Given the description of an element on the screen output the (x, y) to click on. 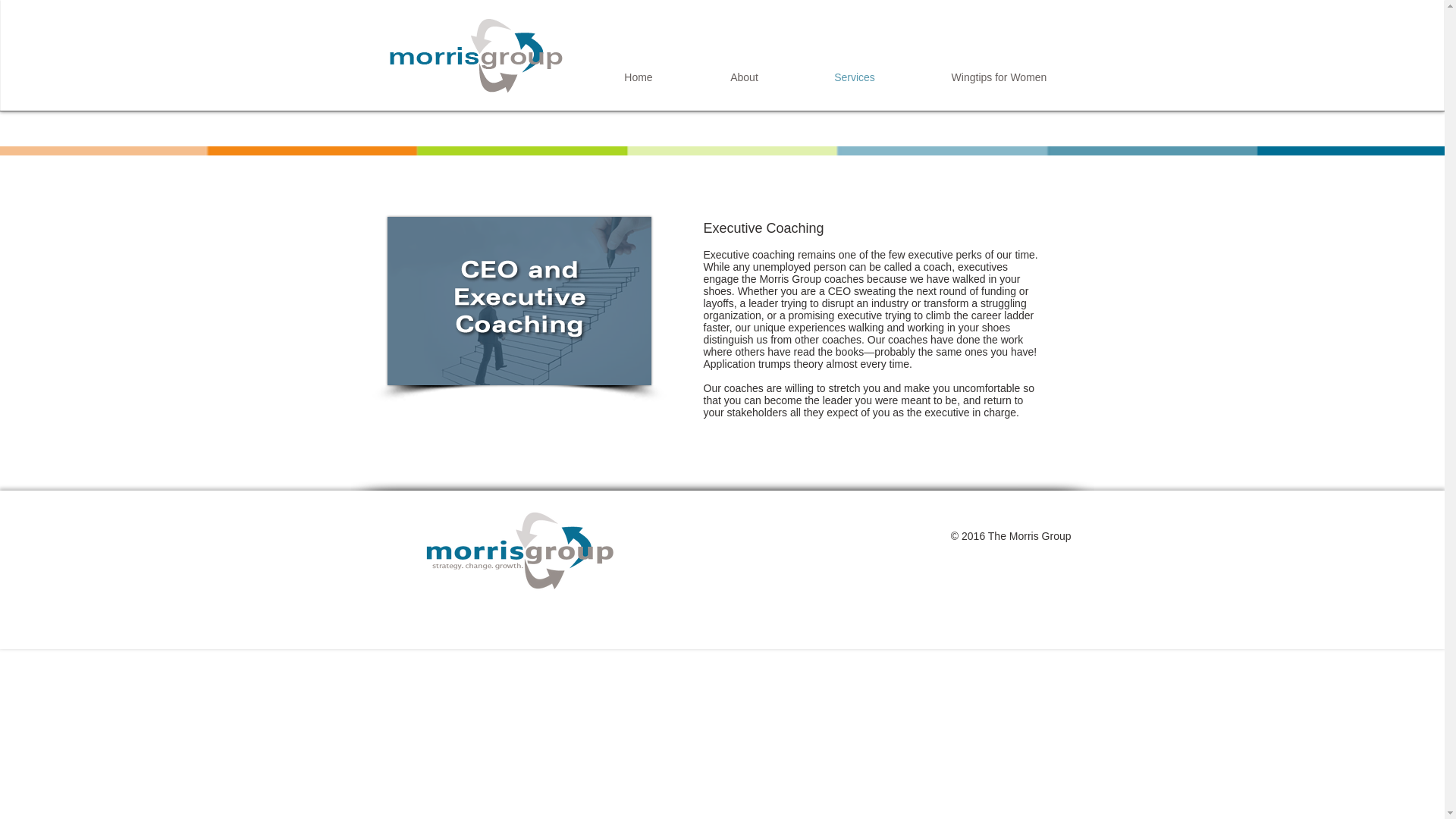
ce-exec-coach-image.png (518, 300)
Home (637, 77)
Wingtips for Women (998, 77)
About (744, 77)
Services (854, 77)
